Given the description of an element on the screen output the (x, y) to click on. 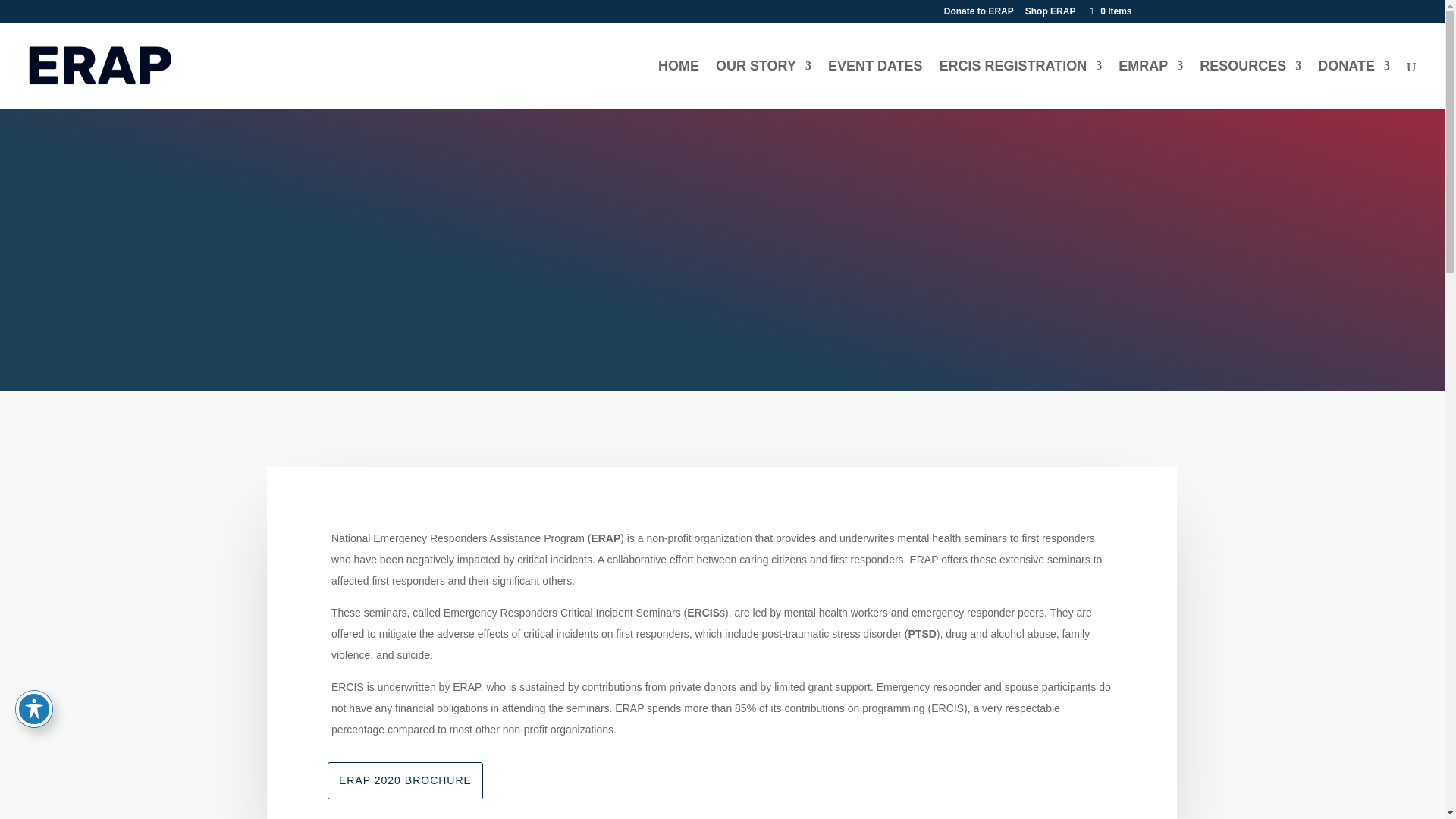
ERCIS REGISTRATION (1020, 84)
0 Items (1108, 10)
DONATE (1353, 84)
Donate to ERAP (978, 14)
OUR STORY (763, 84)
ERAP 2020 BROCHURE (405, 781)
EMRAP (1150, 84)
RESOURCES (1250, 84)
Shop ERAP (1050, 14)
EVENT DATES (875, 84)
